Given the description of an element on the screen output the (x, y) to click on. 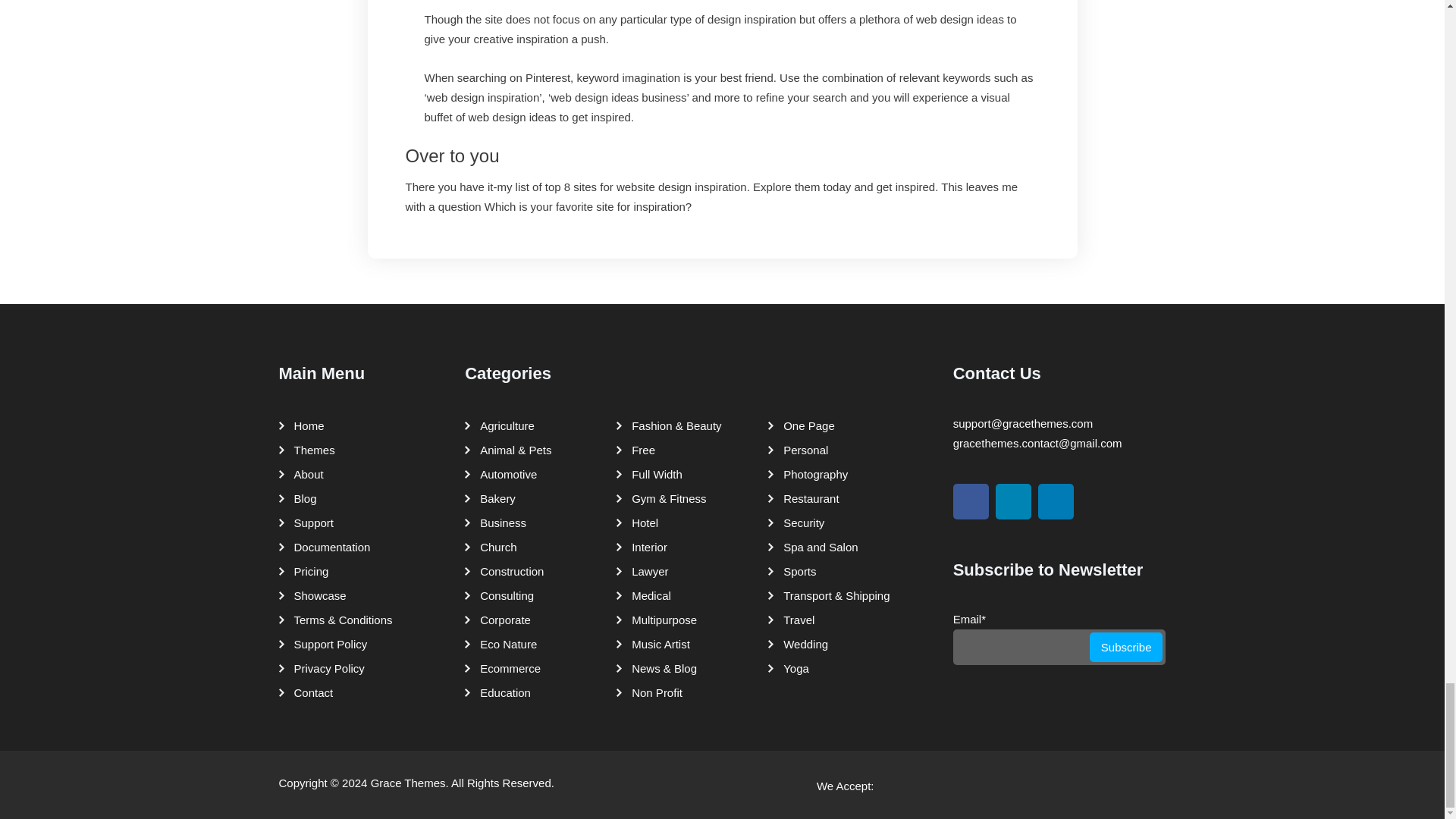
Subscribe (1126, 646)
Blog (301, 498)
Documentation (328, 547)
Showcase (316, 595)
Themes (310, 450)
About (304, 474)
Contact (309, 692)
Home (305, 426)
Pricing (307, 571)
Support Policy (327, 644)
Privacy Policy (325, 668)
Support (310, 523)
